Given the description of an element on the screen output the (x, y) to click on. 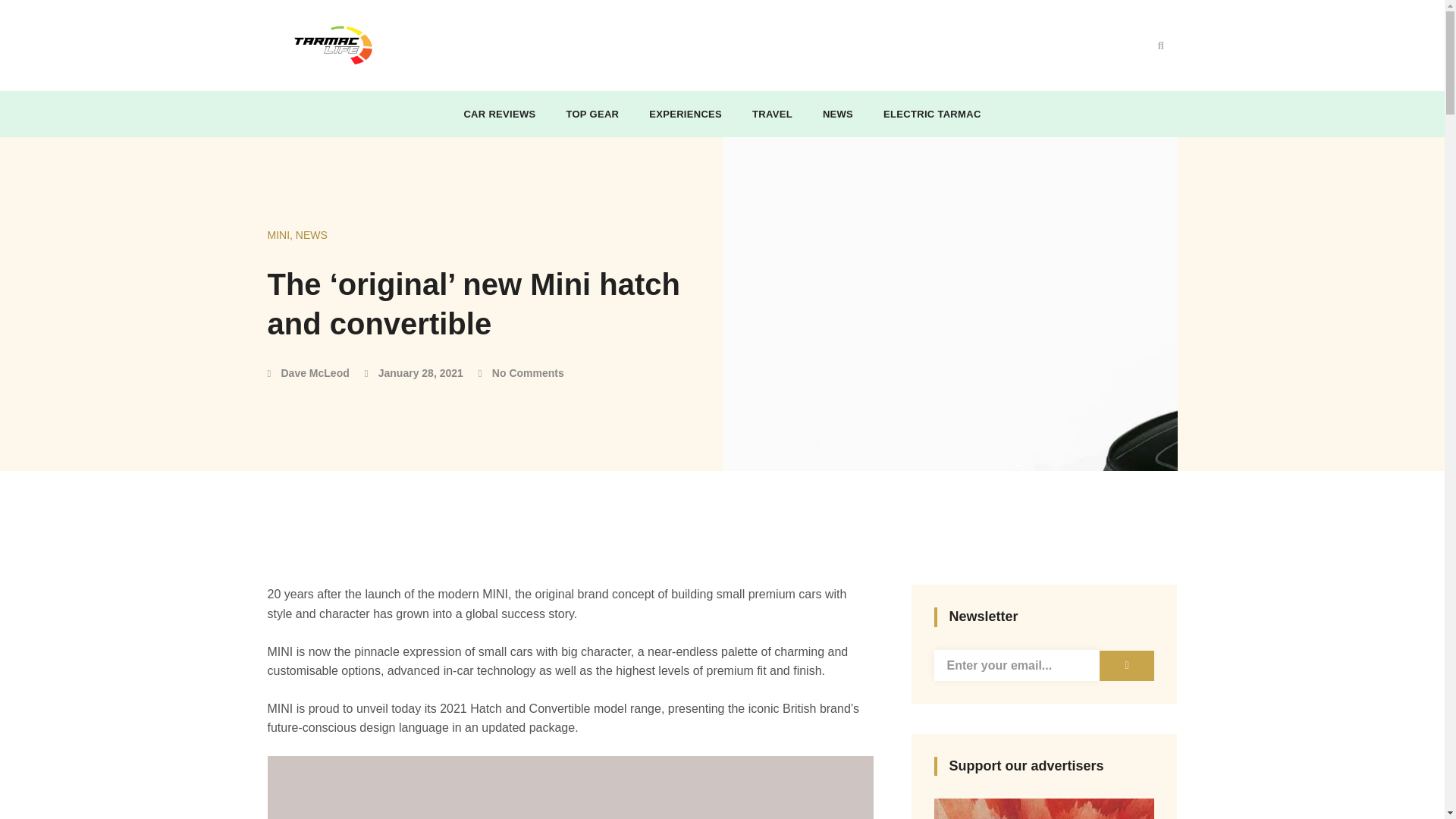
CAR REVIEWS (499, 113)
TOP GEAR (591, 113)
Dave McLeod (307, 373)
ELECTRIC TARMAC (932, 113)
NEWS (837, 113)
EXPERIENCES (685, 113)
TRAVEL (771, 113)
Nissan SUV Sale (1044, 808)
January 28, 2021 (414, 373)
No Comments (521, 373)
